Given the description of an element on the screen output the (x, y) to click on. 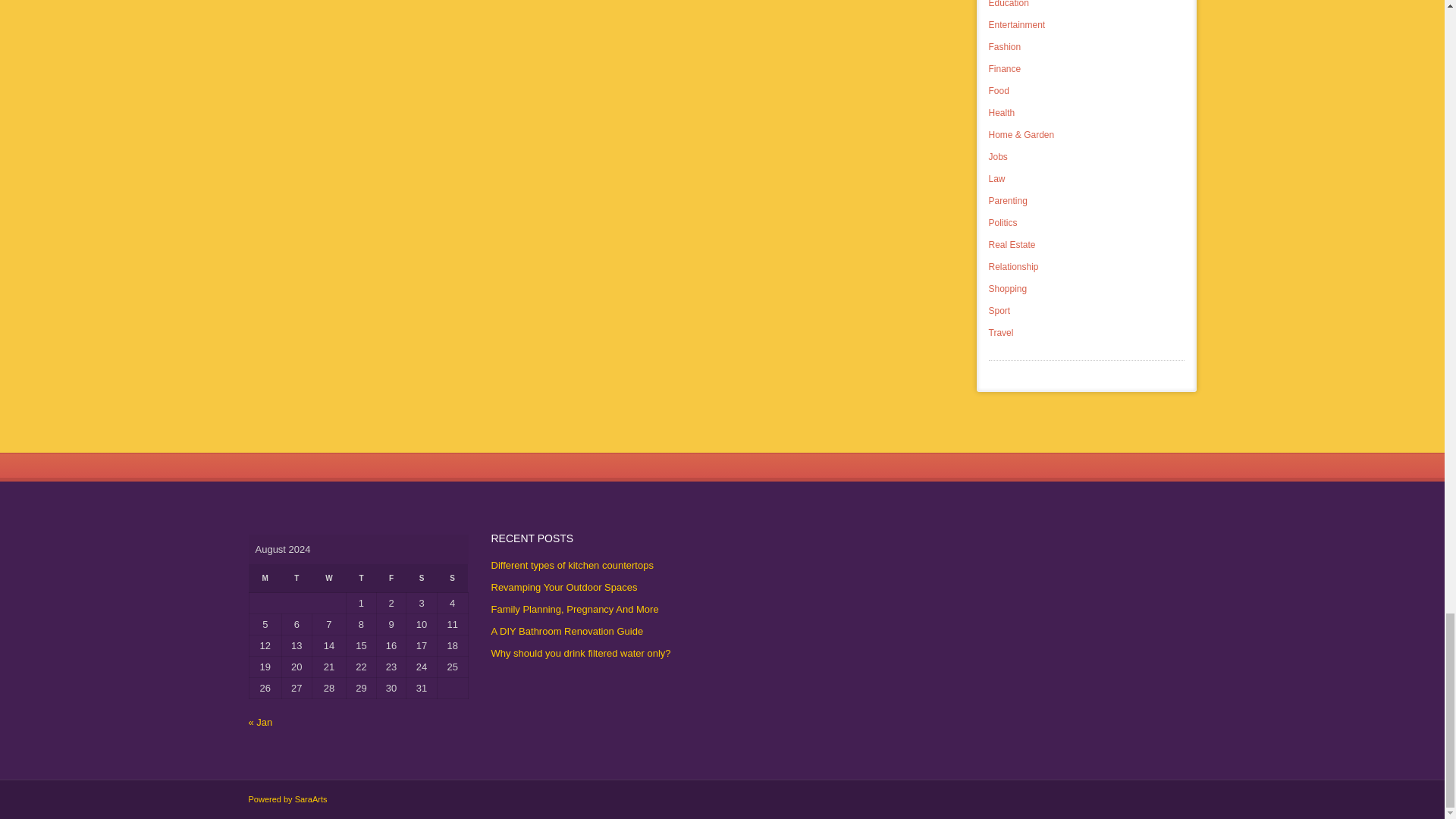
Friday (390, 578)
Sunday (451, 578)
Thursday (361, 578)
Wednesday (328, 578)
Monday (265, 578)
Tuesday (297, 578)
Saturday (422, 578)
